Given the description of an element on the screen output the (x, y) to click on. 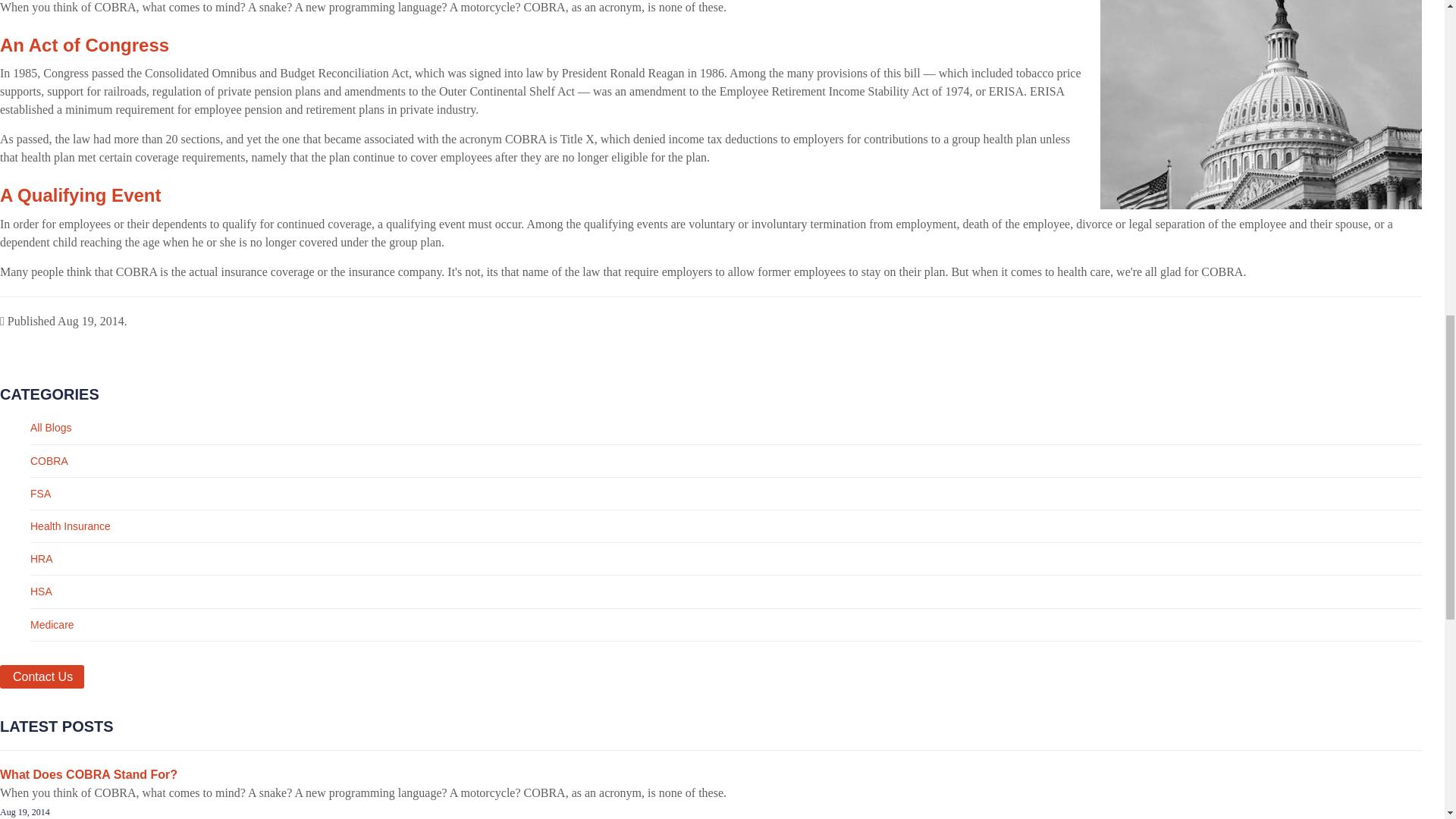
COBRA (49, 460)
All Blogs (50, 427)
FSA (40, 493)
HRA (41, 558)
Health Insurance (70, 526)
